Given the description of an element on the screen output the (x, y) to click on. 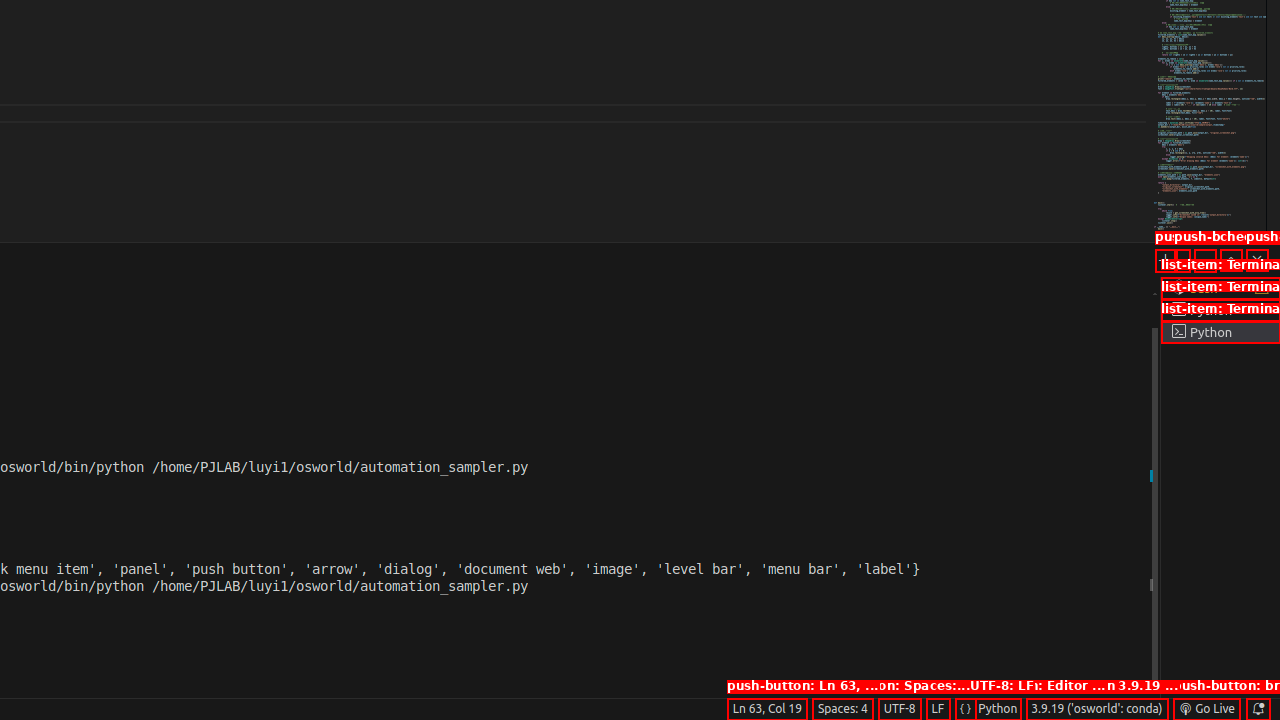
broadcast Go Live, Click to run live server Element type: push-button (1206, 709)
Terminal 5 Python Element type: list-item (1220, 332)
New Terminal (Ctrl+Shift+`) [Alt] Split Terminal (Ctrl+Shift+5) Element type: push-button (1166, 260)
LF Element type: push-button (938, 709)
Launch Profile... Element type: push-button (1182, 260)
